Given the description of an element on the screen output the (x, y) to click on. 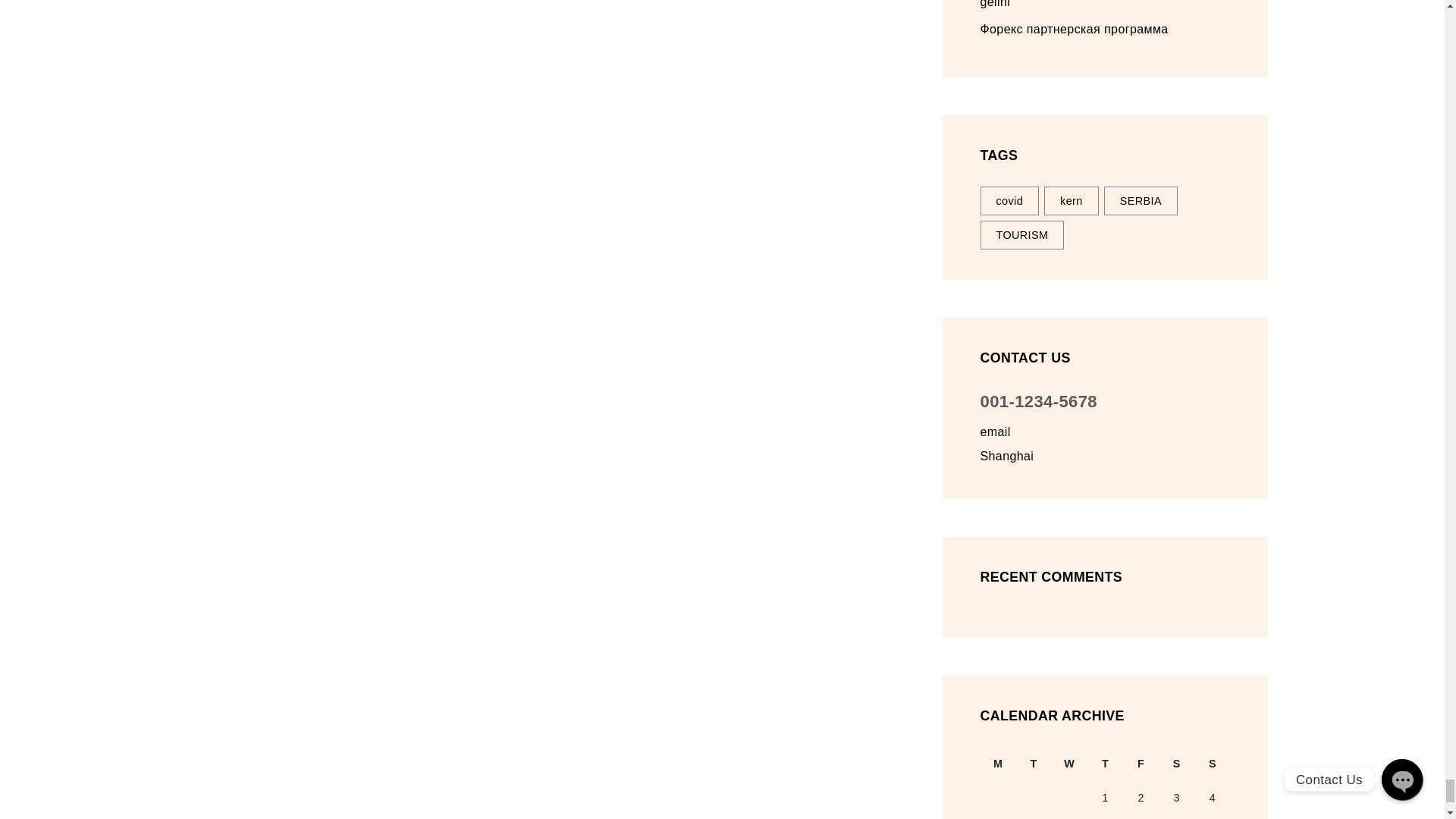
Wednesday (1069, 763)
Friday (1140, 763)
Thursday (1104, 763)
Monday (996, 763)
Tuesday (1033, 763)
Saturday (1175, 763)
Sunday (1211, 763)
